Given the description of an element on the screen output the (x, y) to click on. 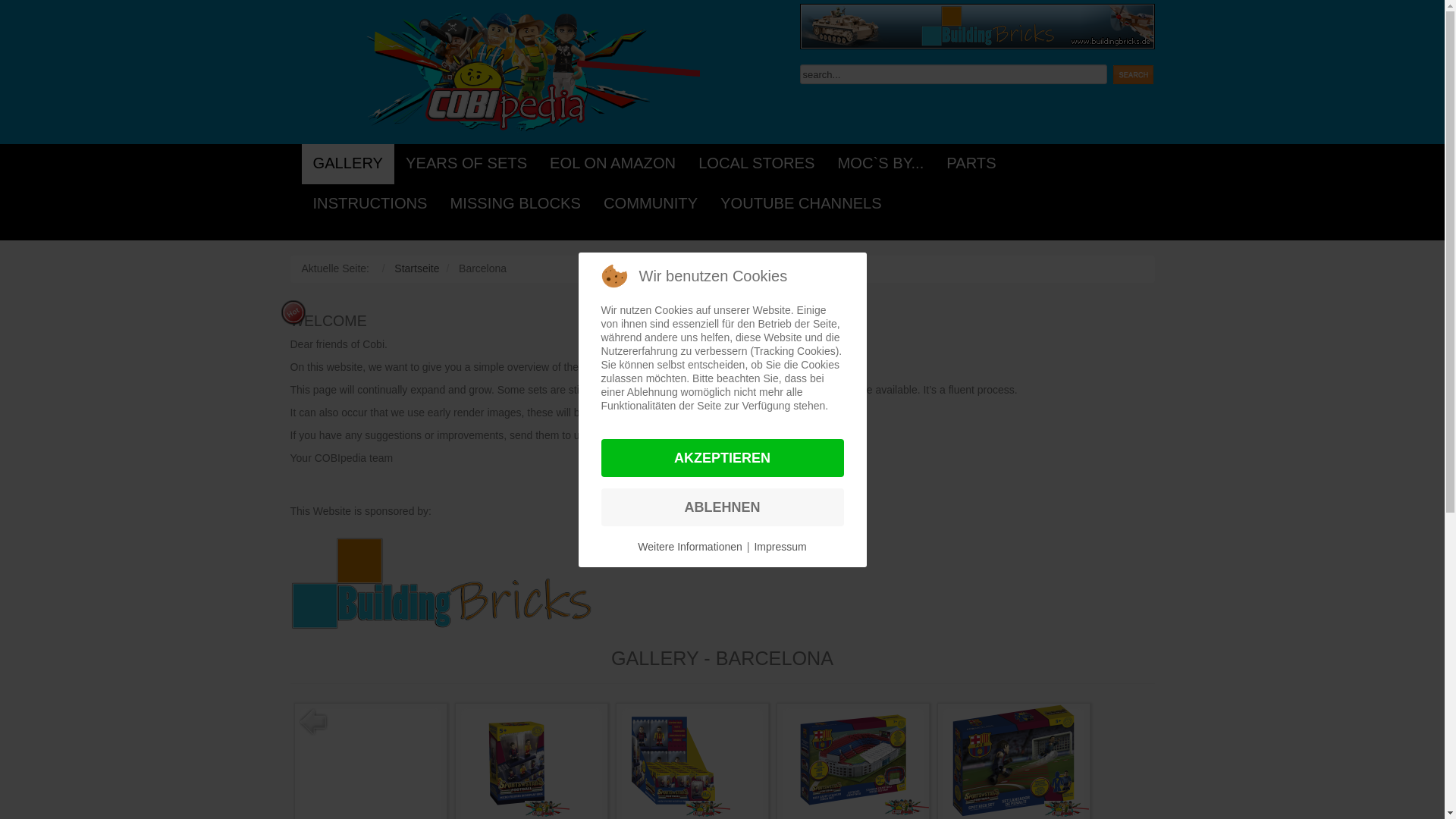
AKZEPTIEREN (721, 456)
PARTS (970, 164)
YOUTUBE CHANNELS (801, 204)
YEARS OF SETS (466, 164)
INSTRUCTIONS (370, 204)
Impressum (780, 545)
Startseite (416, 268)
Weitere Informationen (689, 545)
MISSING BLOCKS (515, 204)
EOL ON AMAZON (612, 164)
